Given the description of an element on the screen output the (x, y) to click on. 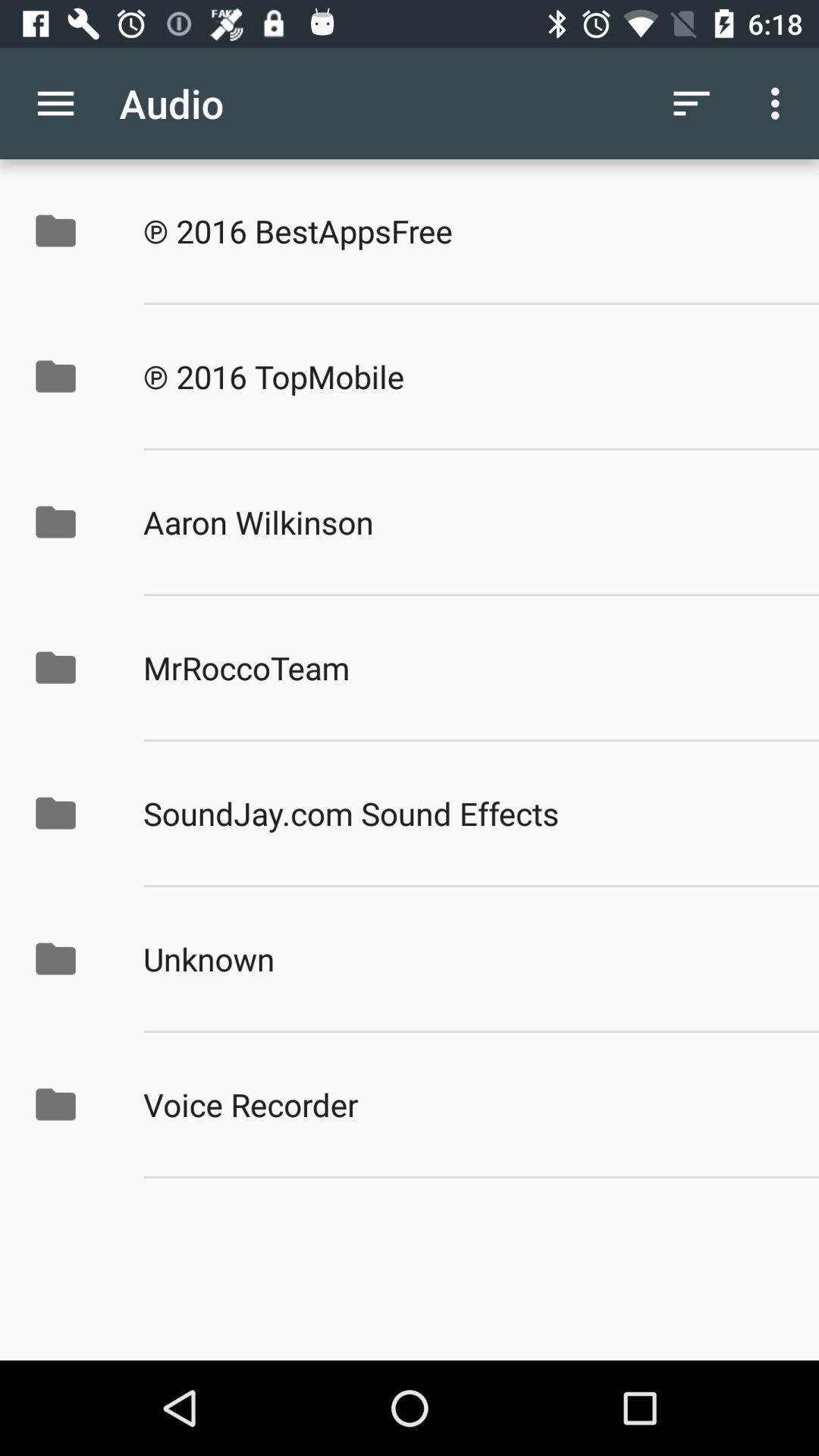
select the icon which is left side of the 2016 topmobile (71, 376)
select the icon which is left side of the 2016 bestappsfree (71, 230)
click on the fifth folder icon (71, 813)
click on the icon of unknown folder (55, 958)
click on the button which is next to the audio (691, 103)
